Given the description of an element on the screen output the (x, y) to click on. 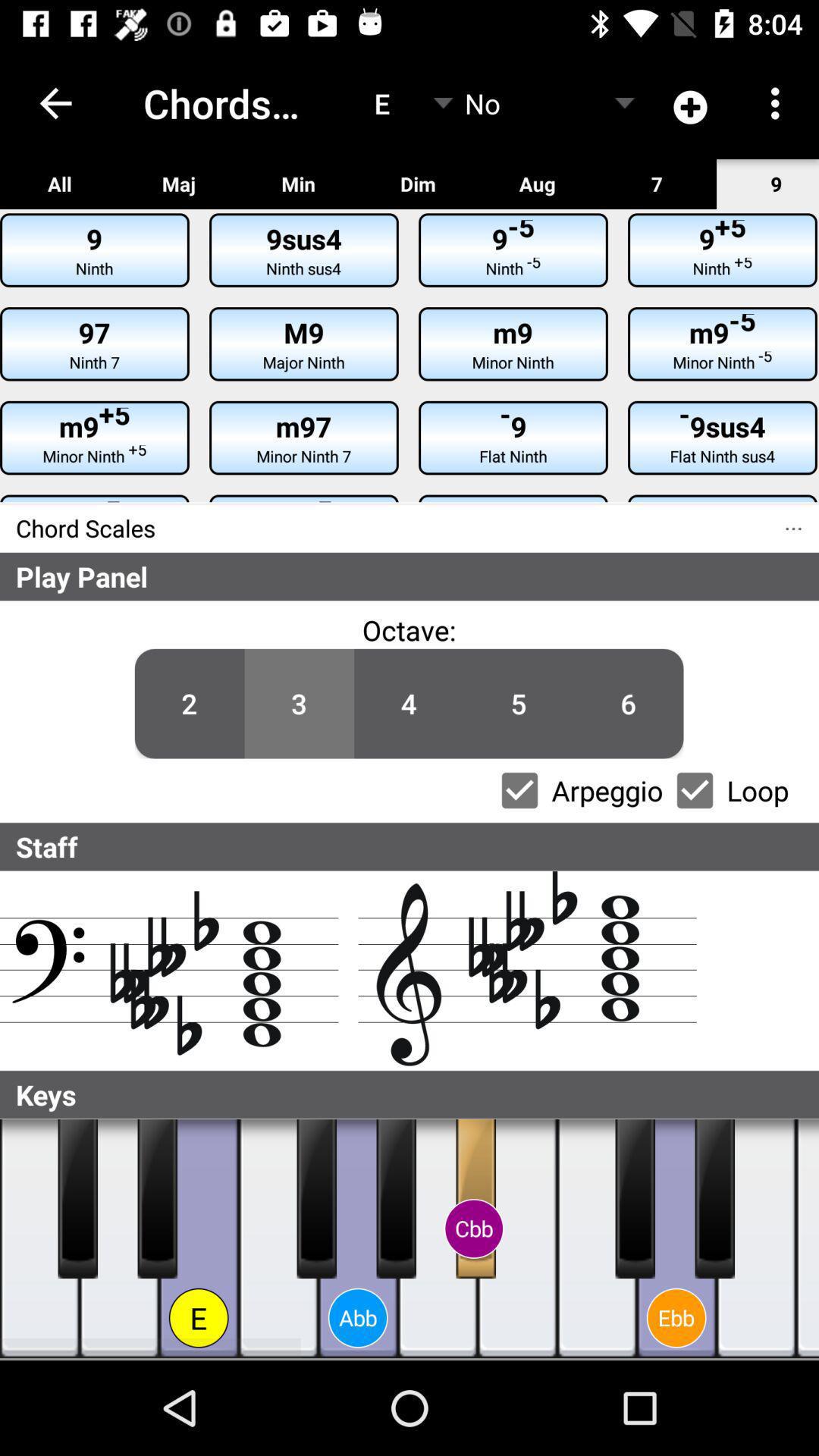
hit the key (437, 1238)
